Given the description of an element on the screen output the (x, y) to click on. 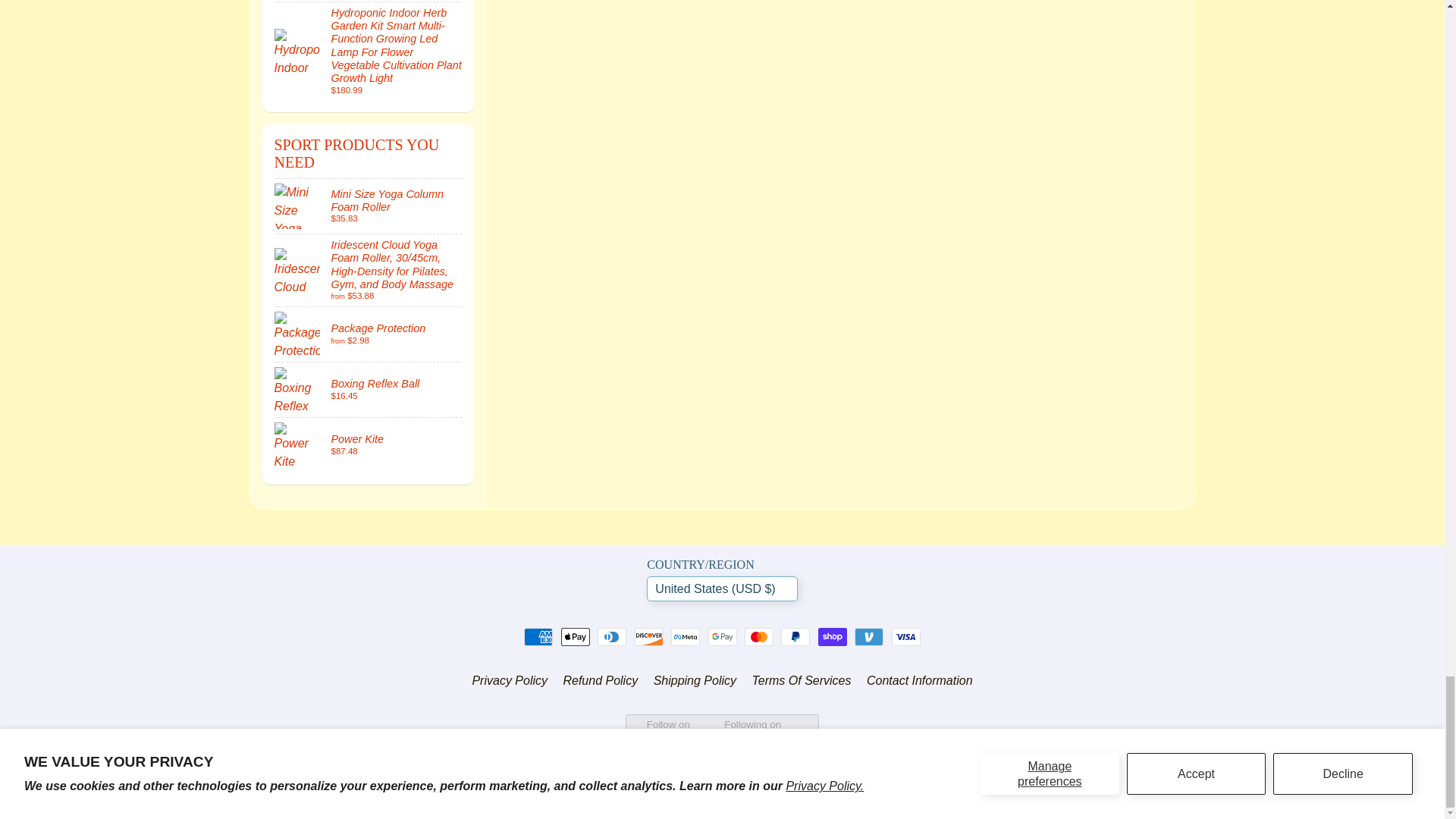
American Express (538, 637)
Mastercard (758, 637)
Venmo (868, 637)
Google Pay (721, 637)
PayPal (794, 637)
Diners Club (611, 637)
Shop Pay (832, 637)
Discover (648, 637)
Apple Pay (574, 637)
Meta Pay (685, 637)
